Given the description of an element on the screen output the (x, y) to click on. 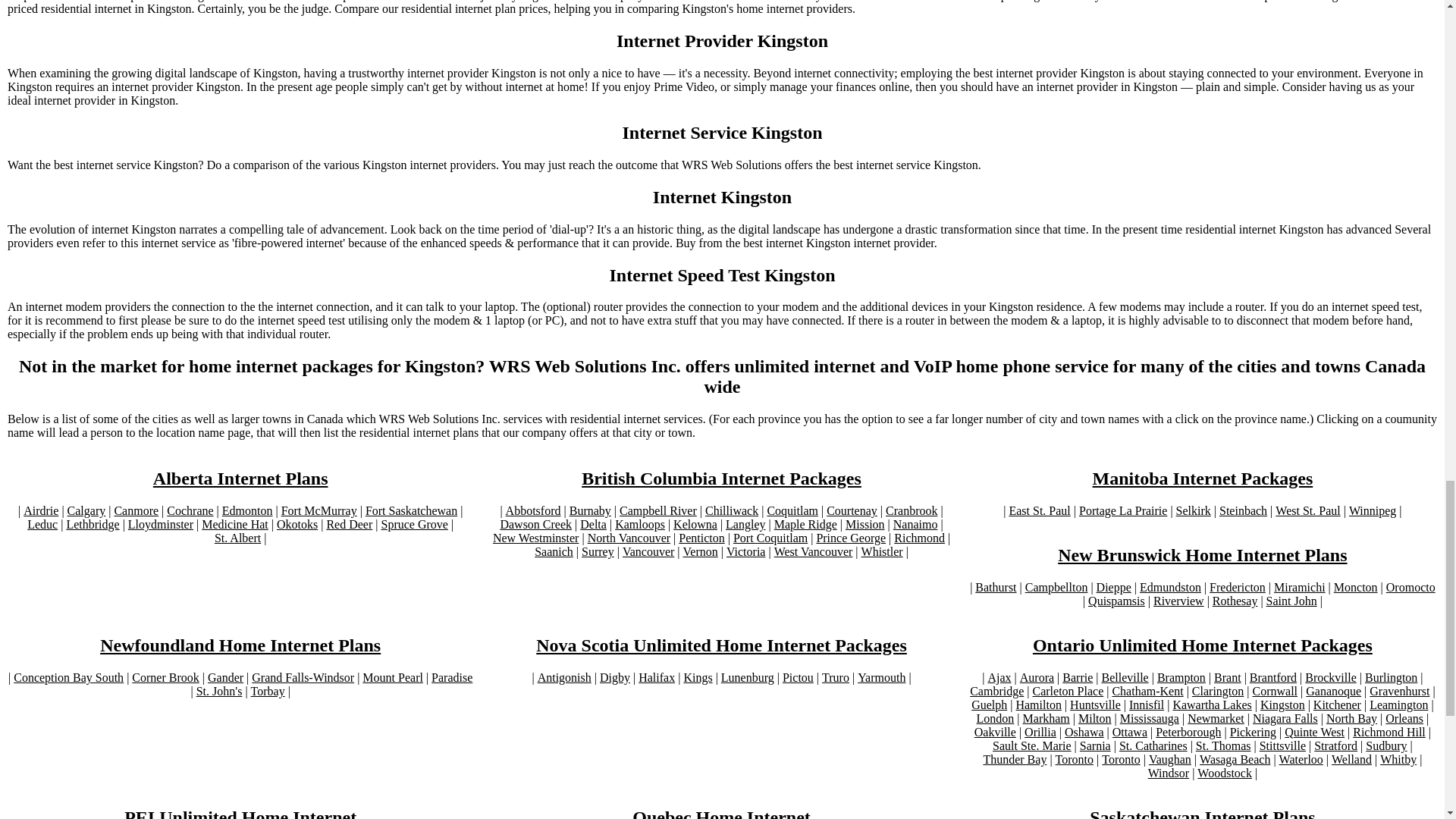
Lloydminster (160, 524)
Okotoks (296, 524)
Red Deer (349, 524)
Spruce Grove (413, 524)
St. Albert (237, 538)
Airdrie (40, 510)
Fort Saskatchewan (411, 510)
Fort McMurray (318, 510)
Calgary (86, 510)
Leduc (42, 524)
